Given the description of an element on the screen output the (x, y) to click on. 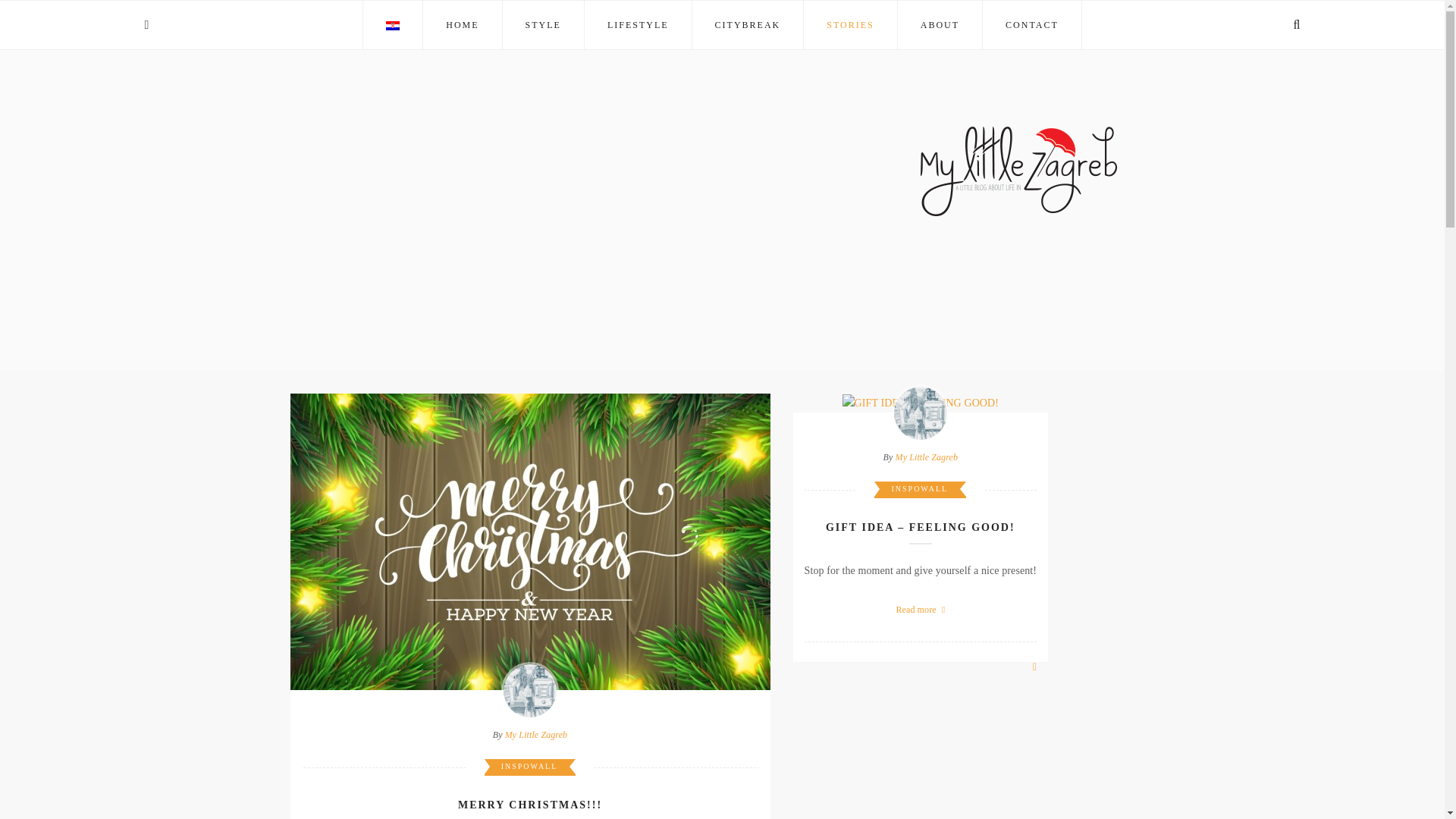
Style (542, 24)
STORIES (850, 24)
ABOUT (939, 24)
CityBreak (747, 24)
HOME (462, 24)
Home (462, 24)
My Little Zagreb (536, 734)
LIFESTYLE (637, 24)
LifeStyle (637, 24)
CONTACT (1032, 24)
